Given the description of an element on the screen output the (x, y) to click on. 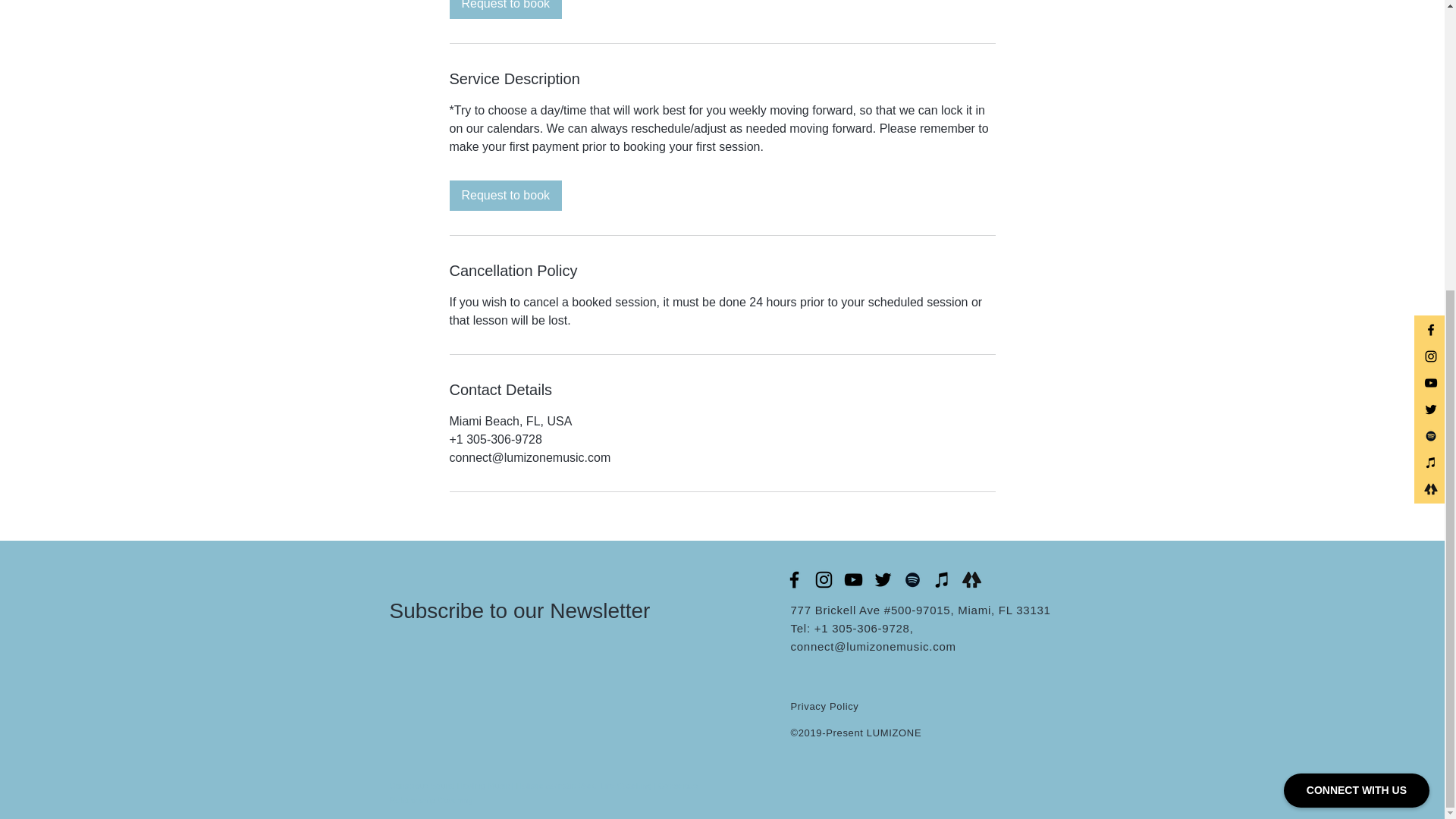
Privacy Policy (824, 706)
Request to book (505, 9)
Request to book (505, 195)
